Given the description of an element on the screen output the (x, y) to click on. 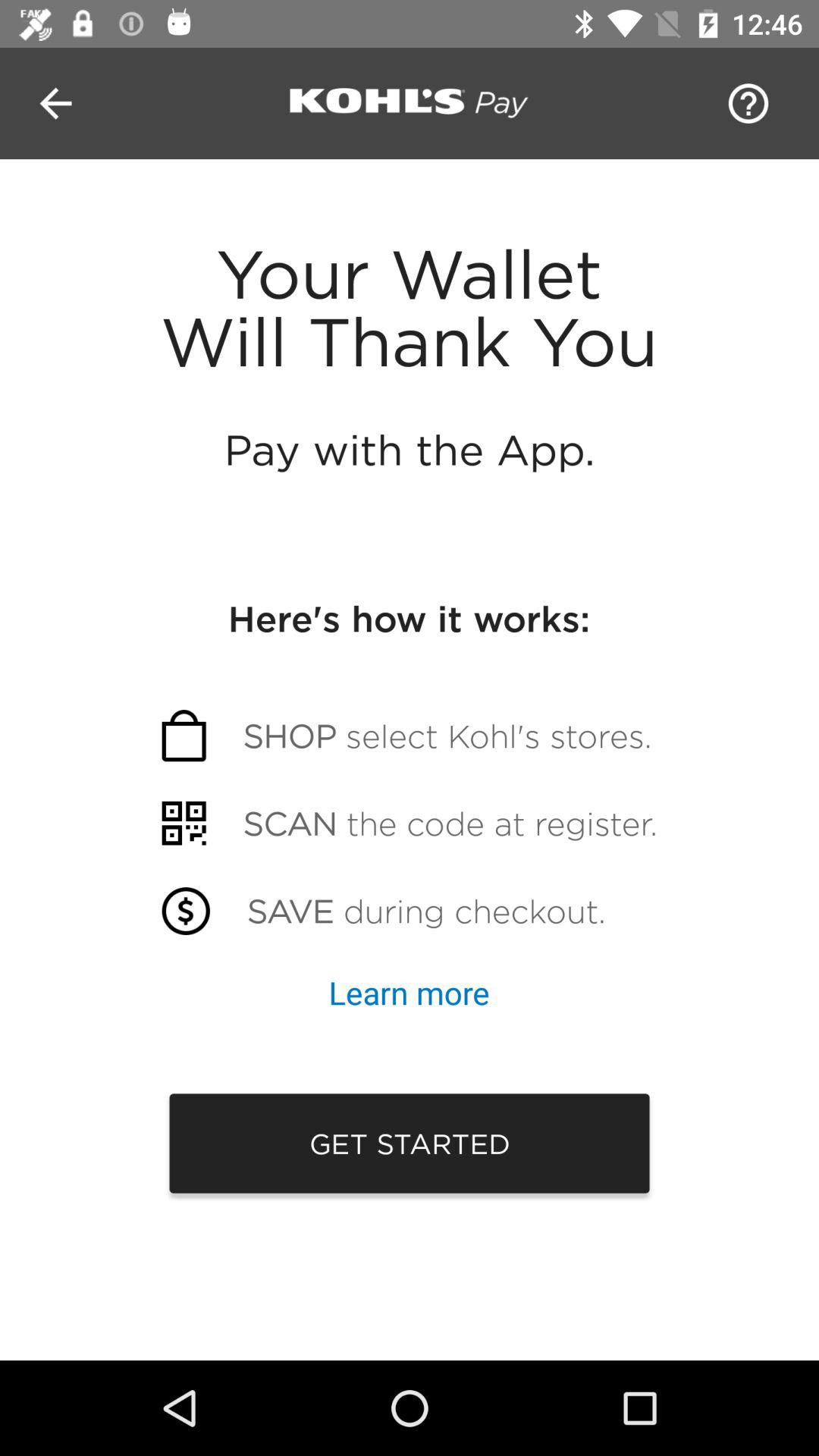
select the button which is above get started (409, 992)
select get started (409, 1143)
go kohls pay (409, 103)
